Given the description of an element on the screen output the (x, y) to click on. 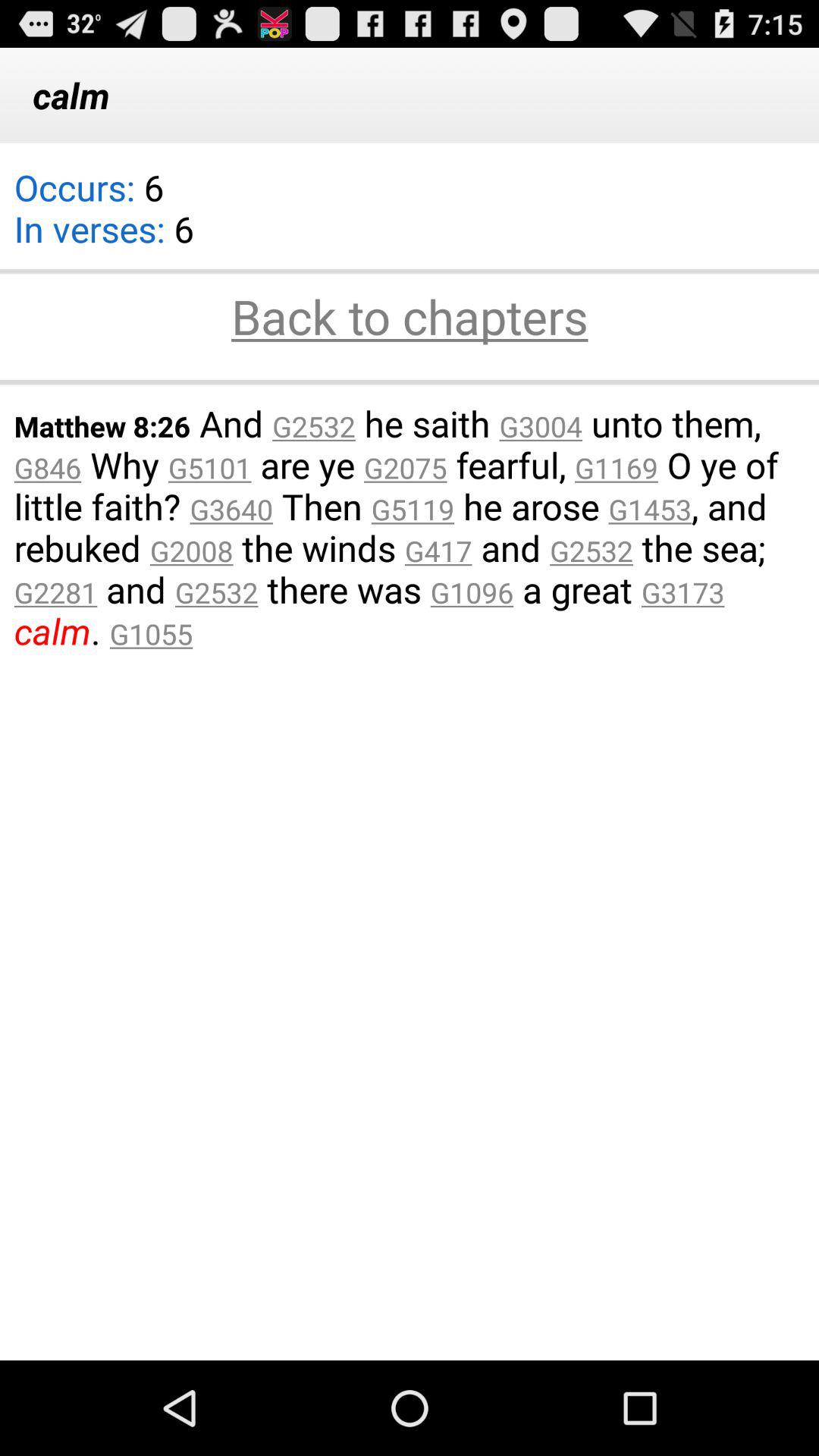
turn on the icon above back to chapters icon (409, 271)
